Given the description of an element on the screen output the (x, y) to click on. 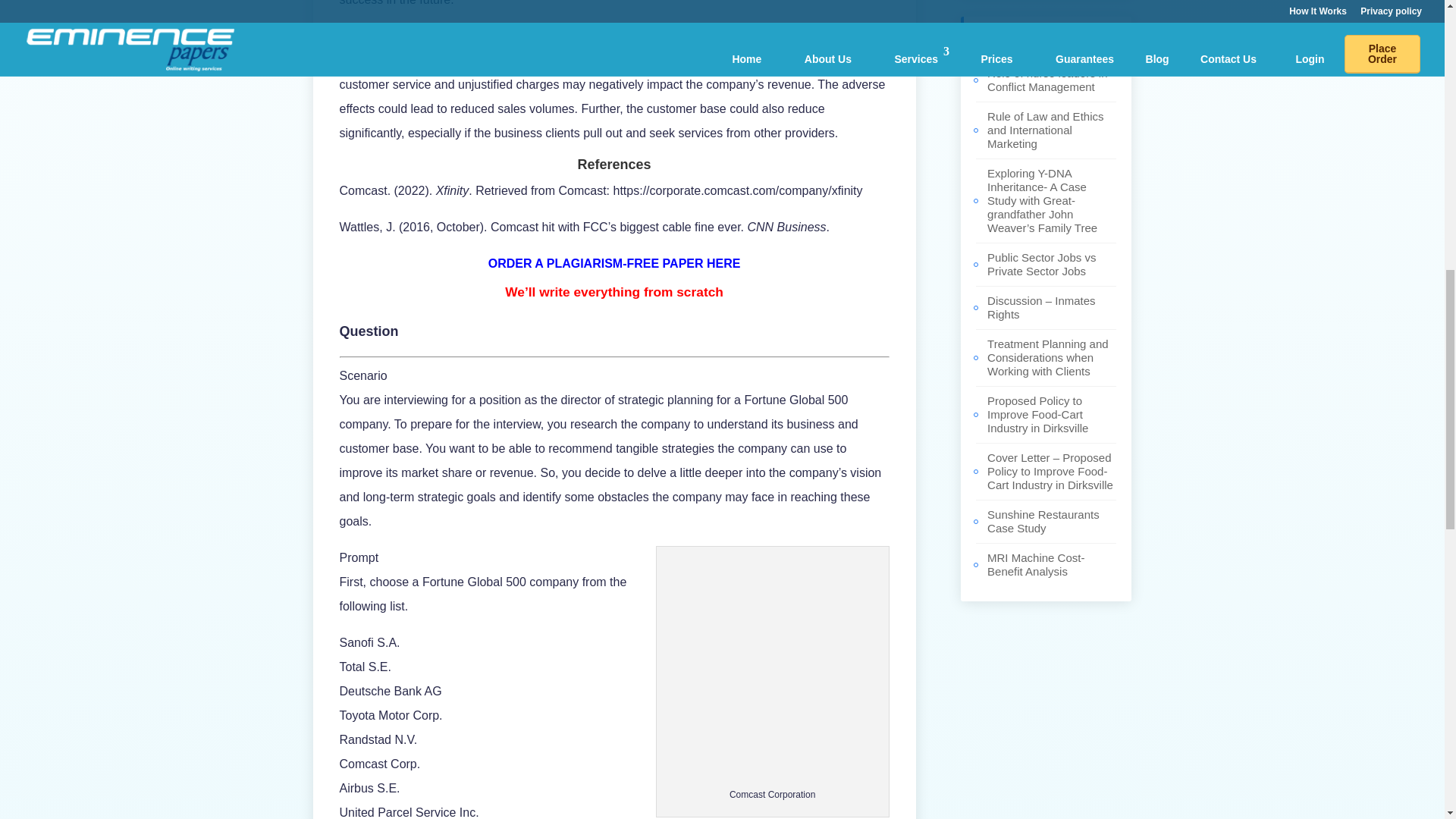
Rule of Law and Ethics and International Marketing (1045, 129)
Public Sector Jobs vs Private Sector Jobs (1041, 263)
ORDER A PLAGIARISM-FREE PAPER HERE (614, 263)
Role of nurse leaders in Conflict Management (1046, 79)
Proposed Policy to Improve Food-Cart Industry in Dirksville (1037, 413)
